Given the description of an element on the screen output the (x, y) to click on. 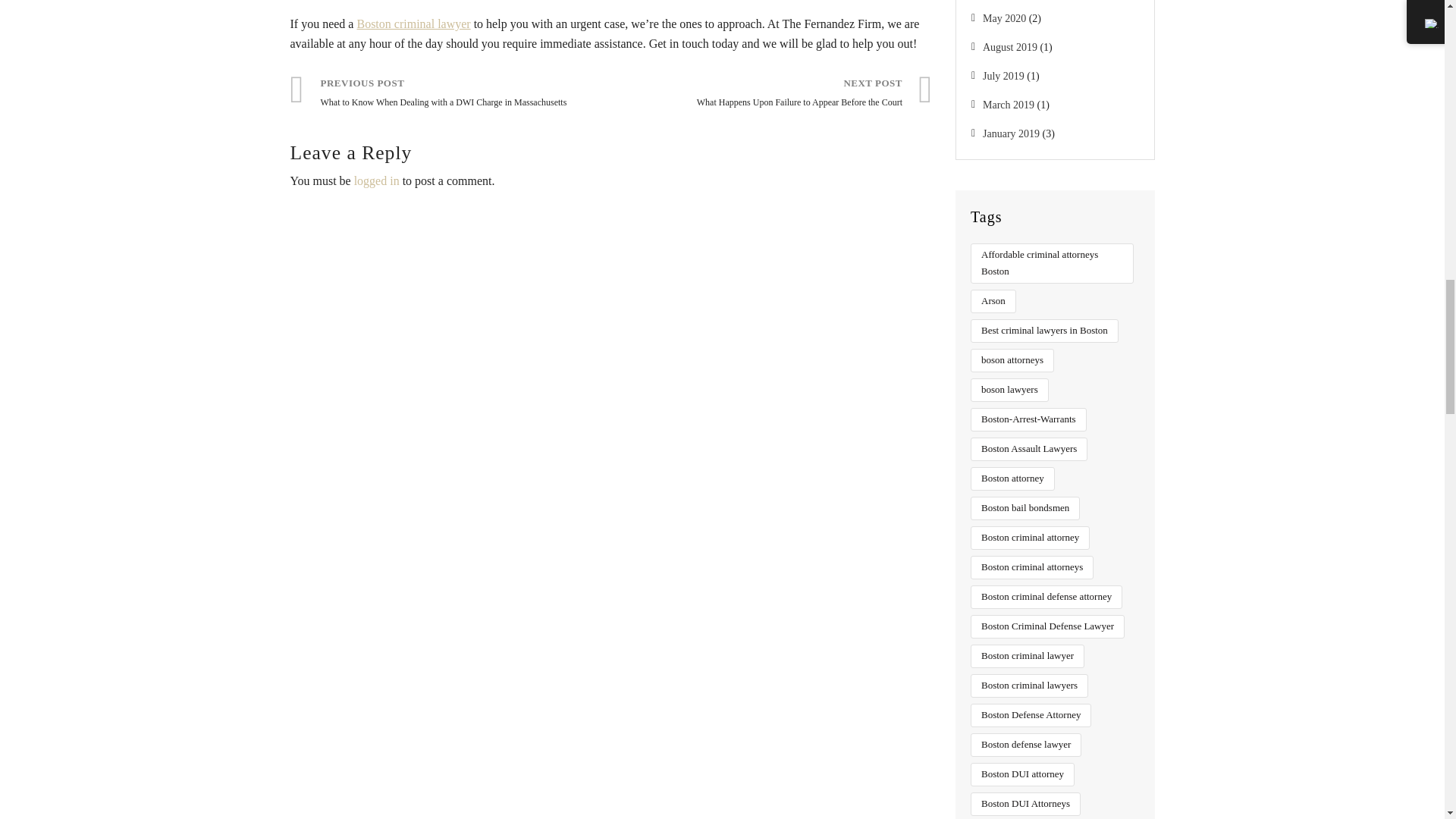
What to Know When Dealing with a DWI Charge in Massachusetts (450, 94)
What Happens Upon Failure to Appear Before the Court (772, 94)
